Given the description of an element on the screen output the (x, y) to click on. 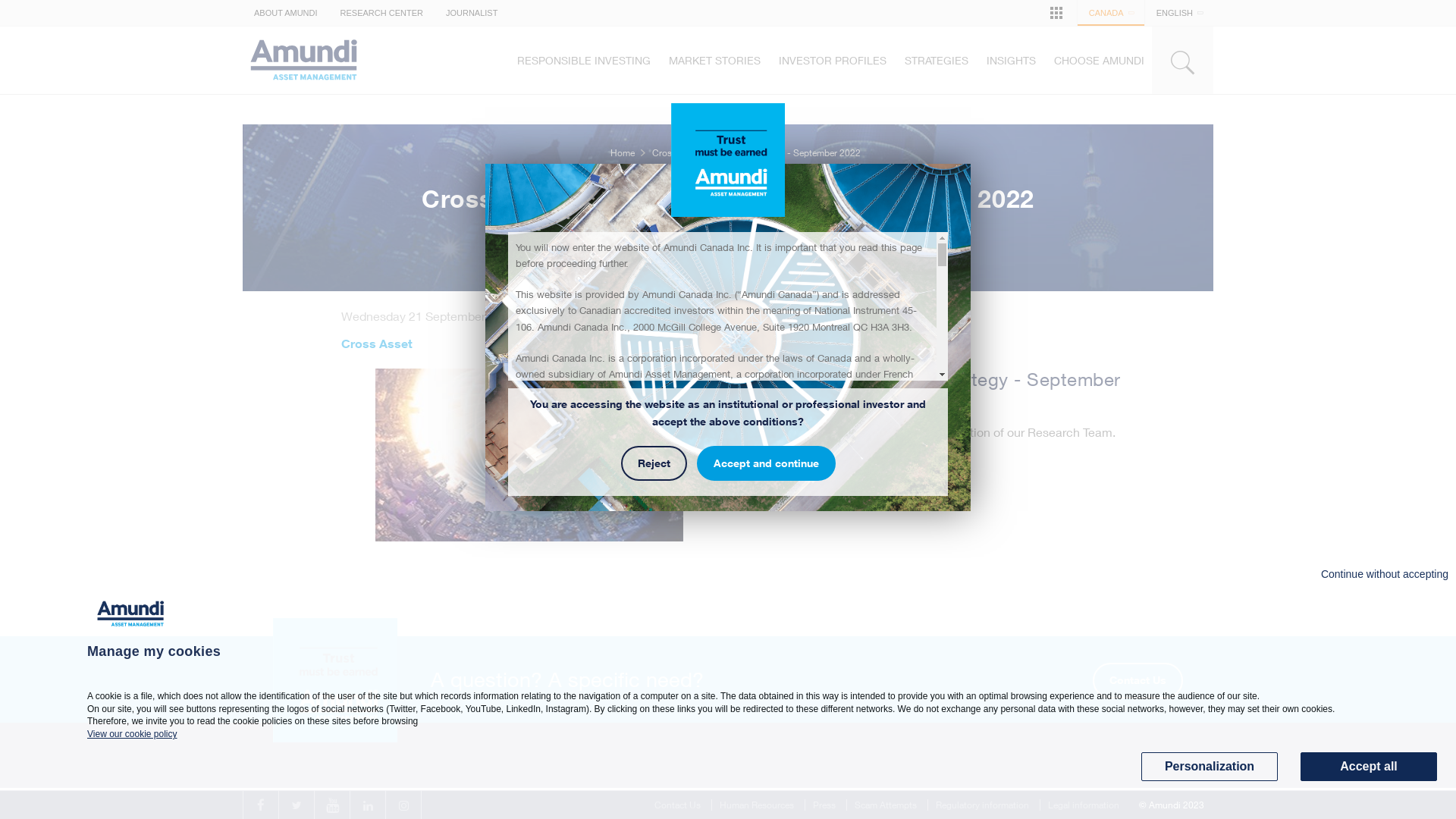
INSIGHTS Element type: text (1011, 60)
STRATEGIES Element type: text (936, 60)
RESPONSIBLE INVESTING Element type: text (583, 60)
Accept all Element type: text (1368, 766)
Legal information Element type: text (1083, 804)
ABOUT AMUNDI Element type: text (285, 12)
Reject Element type: text (653, 463)
Press Element type: text (824, 804)
Regulatory information Element type: text (982, 804)
RESEARCH CENTER Element type: text (381, 12)
Home Element type: text (622, 152)
CHOOSE AMUNDI Element type: text (1098, 60)
Human Resources Element type: text (756, 804)
Accept and continue Element type: text (765, 463)
Read more on Research Center Element type: text (839, 475)
INVESTOR PROFILES Element type: text (832, 60)
Scam Attempts Element type: text (885, 804)
Continue without accepting Element type: text (1384, 574)
Personalization Element type: text (1209, 766)
Contact Us Element type: text (677, 804)
View our cookie policy Element type: text (132, 733)
JOURNALIST Element type: text (471, 12)
Contact Us Element type: text (1137, 680)
MARKET STORIES Element type: text (714, 60)
